Given the description of an element on the screen output the (x, y) to click on. 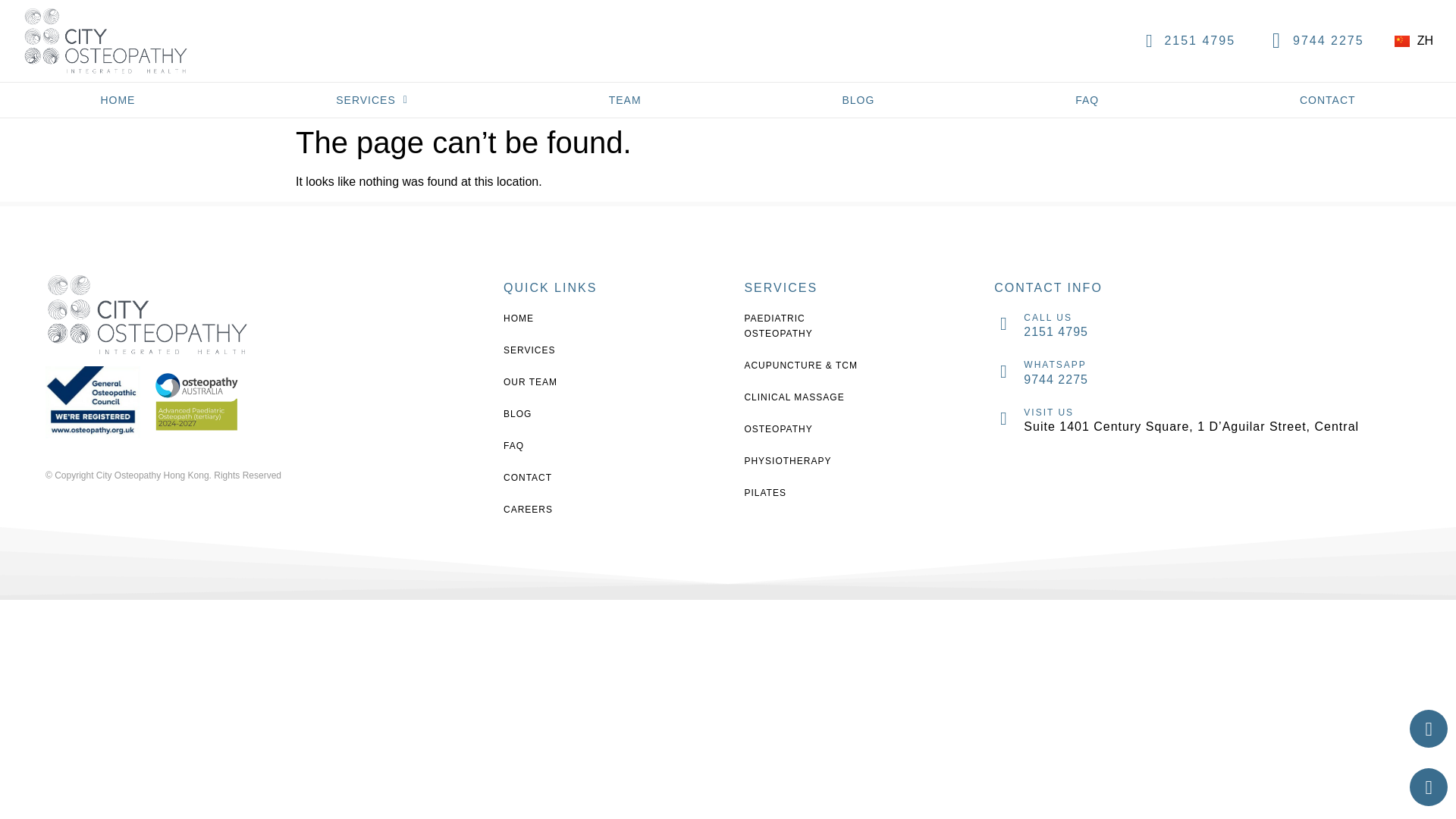
BLOG (563, 413)
OUR TEAM (563, 381)
2151 4795 (1198, 40)
HOME (563, 318)
CONTACT (563, 477)
SERVICES (371, 99)
FAQ (563, 445)
FAQ (1087, 99)
HOME (117, 99)
ZH (1413, 40)
